Given the description of an element on the screen output the (x, y) to click on. 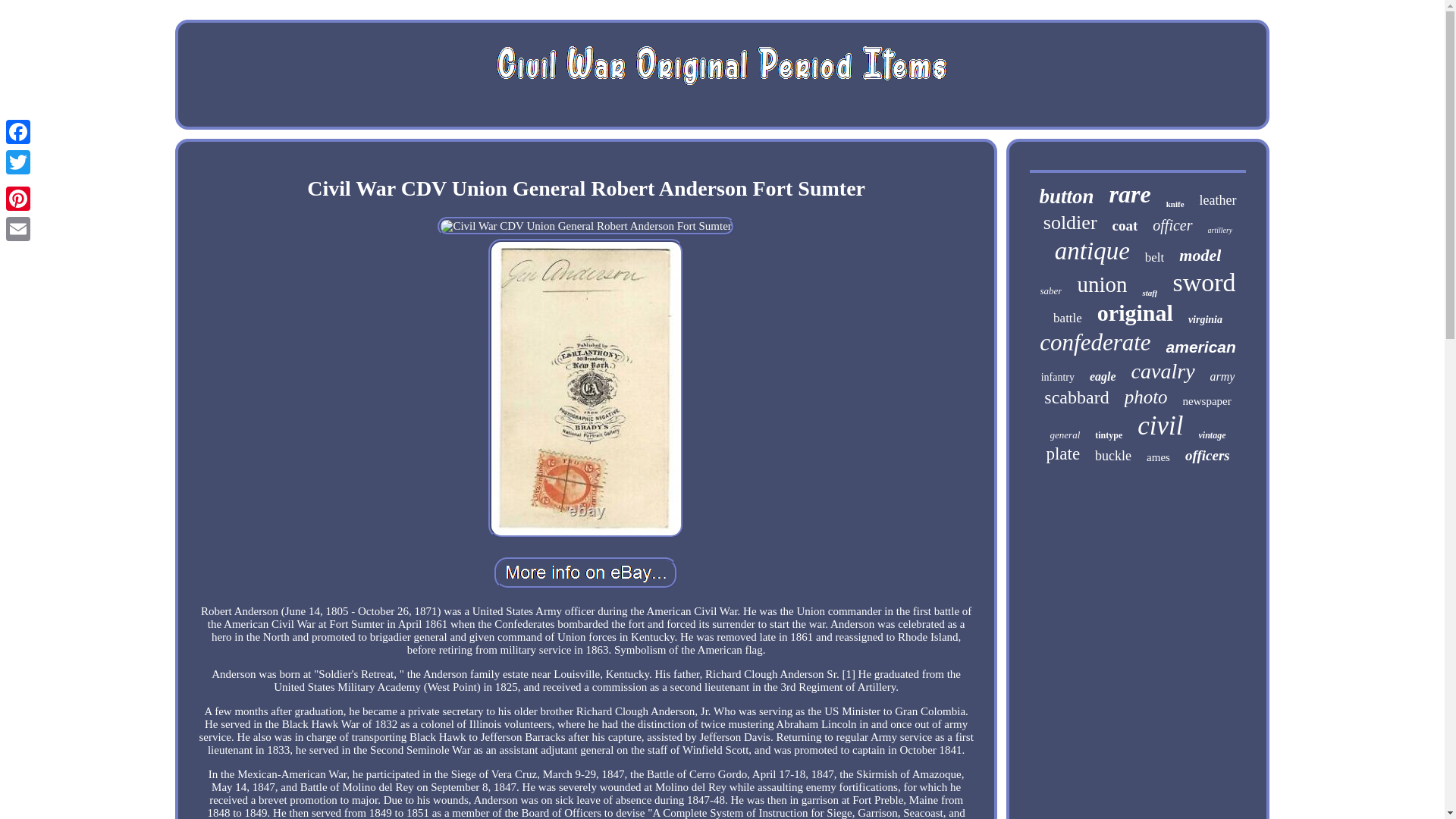
photo (1145, 396)
general (1064, 435)
virginia (1205, 319)
sword (1203, 282)
Email (17, 228)
model (1200, 255)
artillery (1220, 230)
coat (1125, 225)
button (1066, 196)
original (1135, 312)
leather (1217, 200)
antique (1091, 251)
army (1221, 377)
Pinterest (17, 198)
eagle (1102, 377)
